Given the description of an element on the screen output the (x, y) to click on. 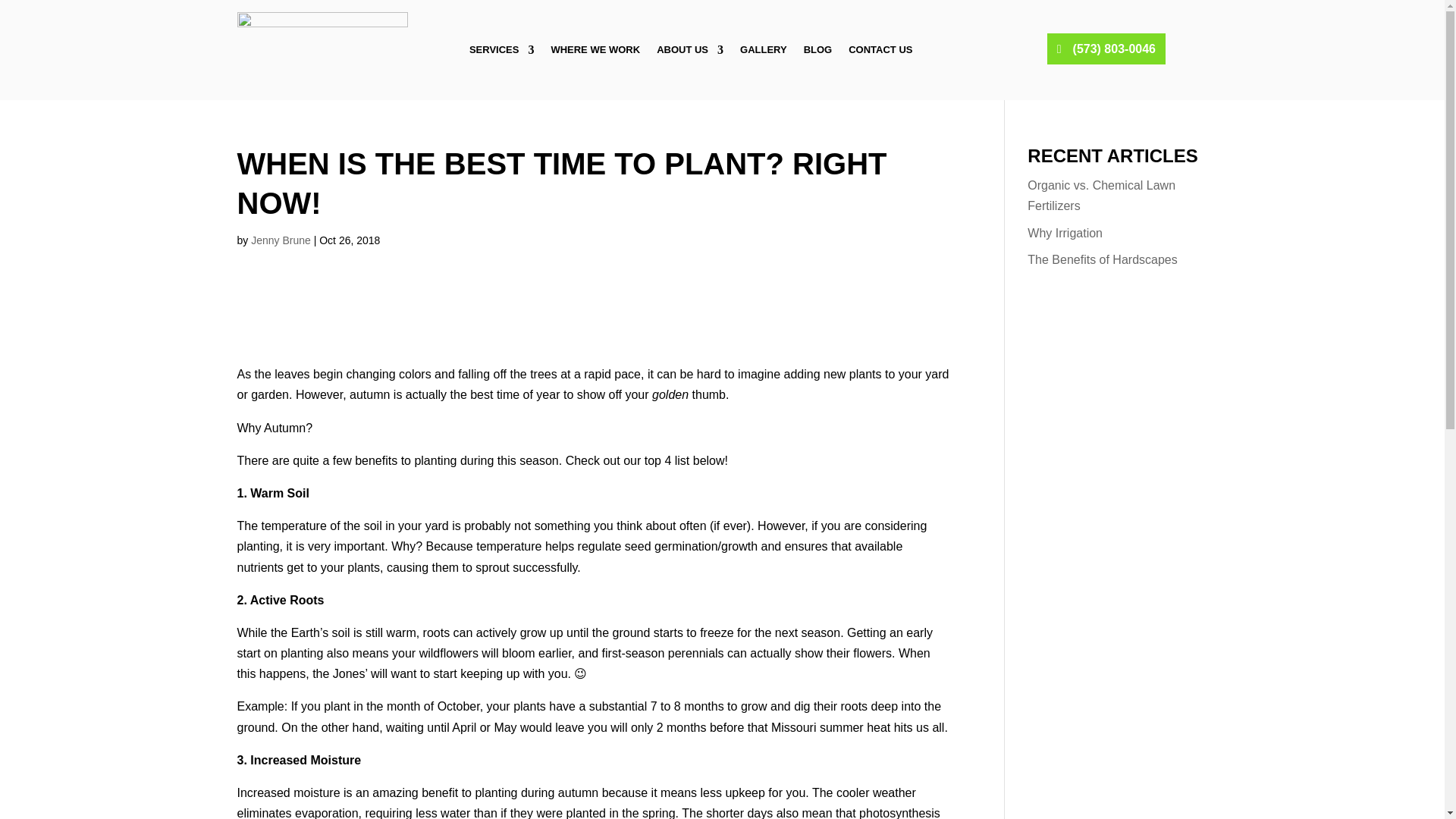
Jenny Brune (280, 240)
WHERE WE WORK (595, 49)
Posts by Jenny Brune (280, 240)
Organic vs. Chemical Lawn Fertilizers (1100, 195)
Why Irrigation (1064, 232)
The Benefits of Hardscapes (1101, 259)
